Given the description of an element on the screen output the (x, y) to click on. 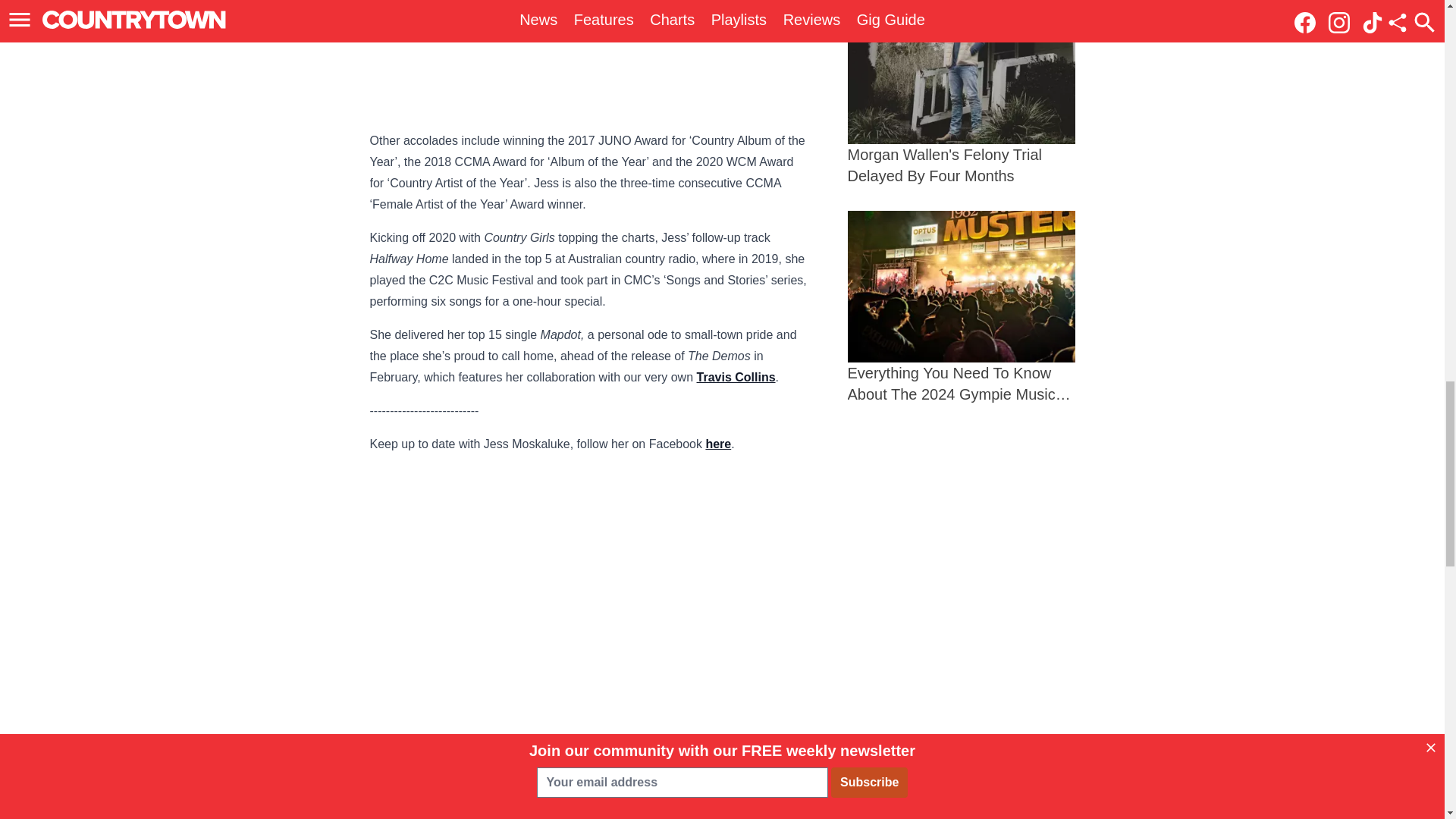
Morgan Wallen's Felony Trial Delayed By Four Months (961, 93)
Travis Collins (736, 377)
here (717, 443)
